Given the description of an element on the screen output the (x, y) to click on. 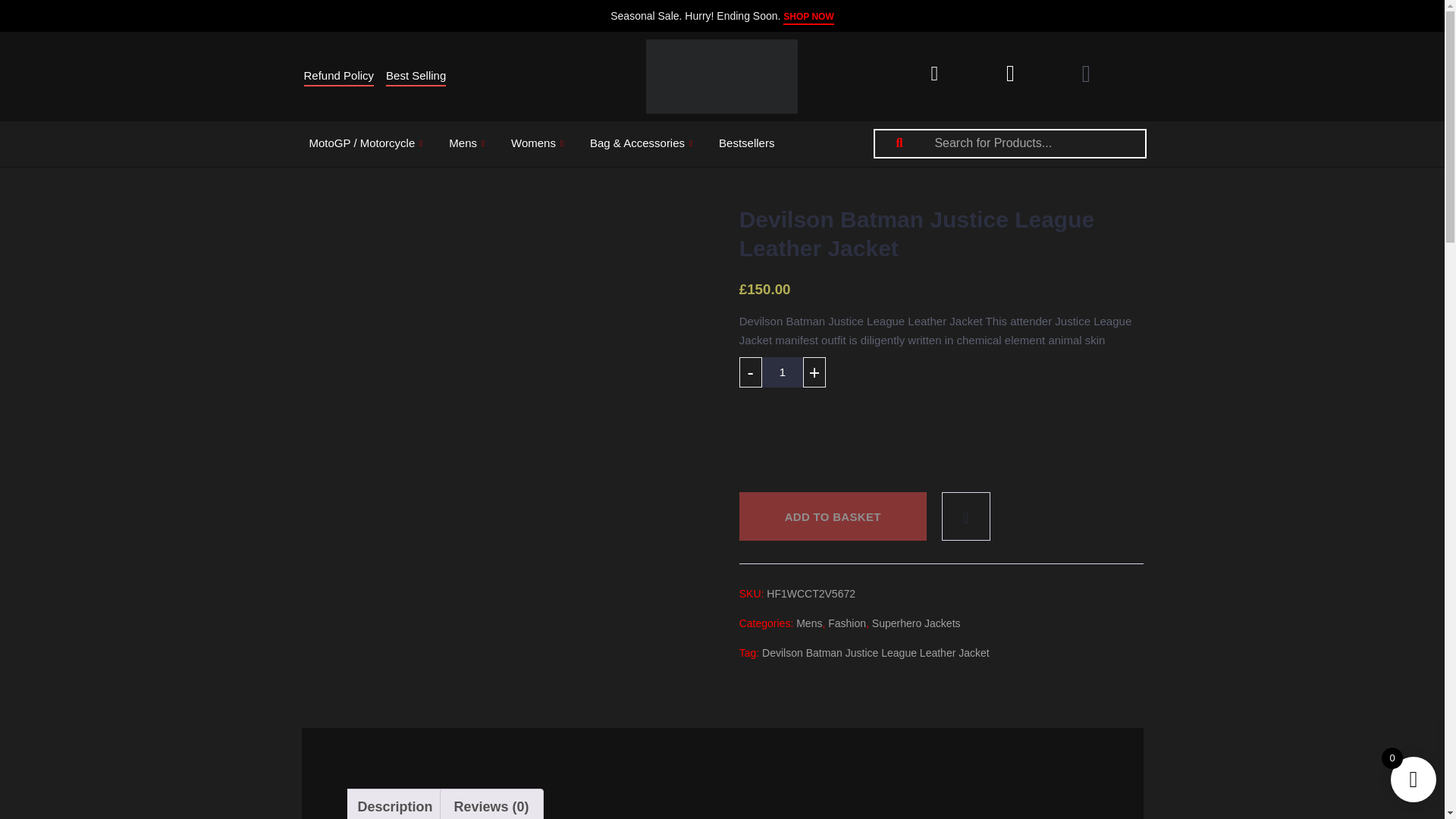
SHOP NOW (807, 17)
Best Selling (415, 76)
1 (782, 372)
Refund Policy (338, 76)
